Given the description of an element on the screen output the (x, y) to click on. 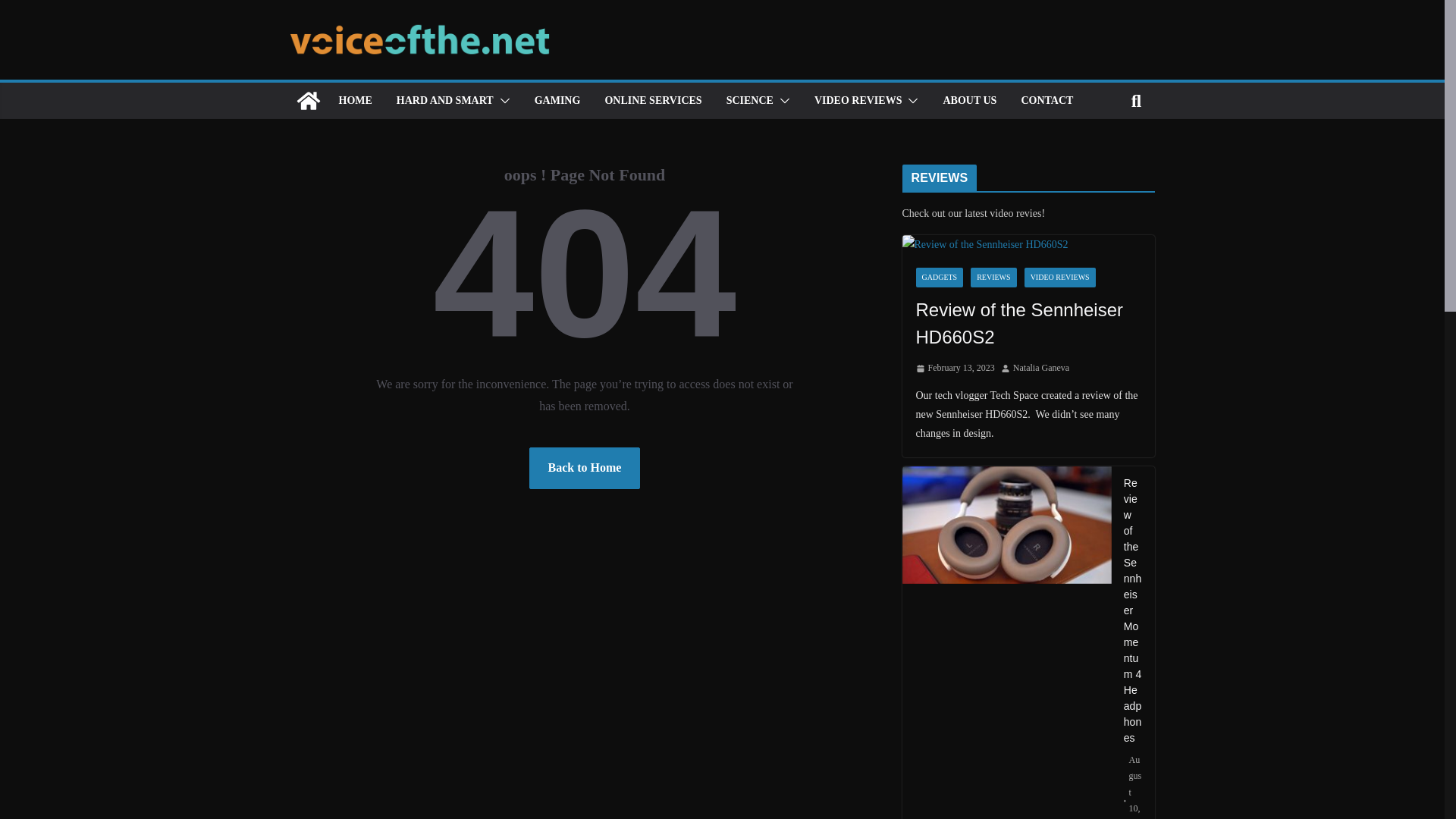
GAMING (557, 100)
GADGETS (939, 277)
ABOUT US (968, 100)
9:36 pm (954, 368)
ONLINE SERVICES (652, 100)
VIDEO REVIEWS (1060, 277)
HOME (354, 100)
HARD AND SMART (444, 100)
Voice of the Net (307, 100)
SCIENCE (749, 100)
Review of the Sennheiser HD660S2  (1028, 323)
CONTACT (1046, 100)
